Given the description of an element on the screen output the (x, y) to click on. 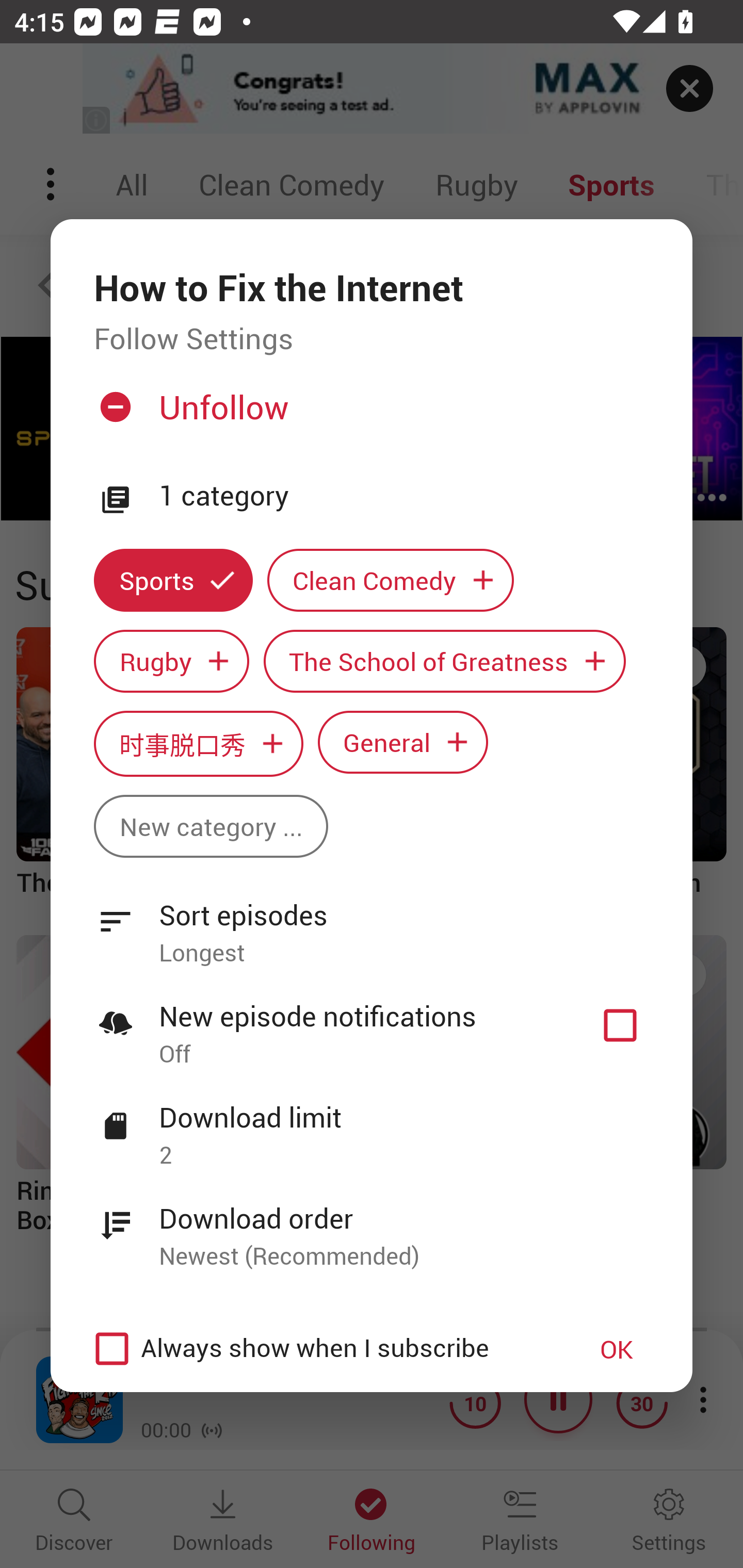
Unfollow (369, 415)
1 category (404, 495)
Sports (172, 579)
Clean Comedy (390, 579)
Rugby (170, 661)
The School of Greatness (444, 661)
时事脱口秀 (198, 743)
General (403, 741)
New category ... (210, 825)
Sort episodes Longest (371, 922)
New episode notifications (620, 1025)
Download limit 2 (371, 1125)
Download order Newest (Recommended) (371, 1226)
OK (616, 1349)
Always show when I subscribe (320, 1349)
